Given the description of an element on the screen output the (x, y) to click on. 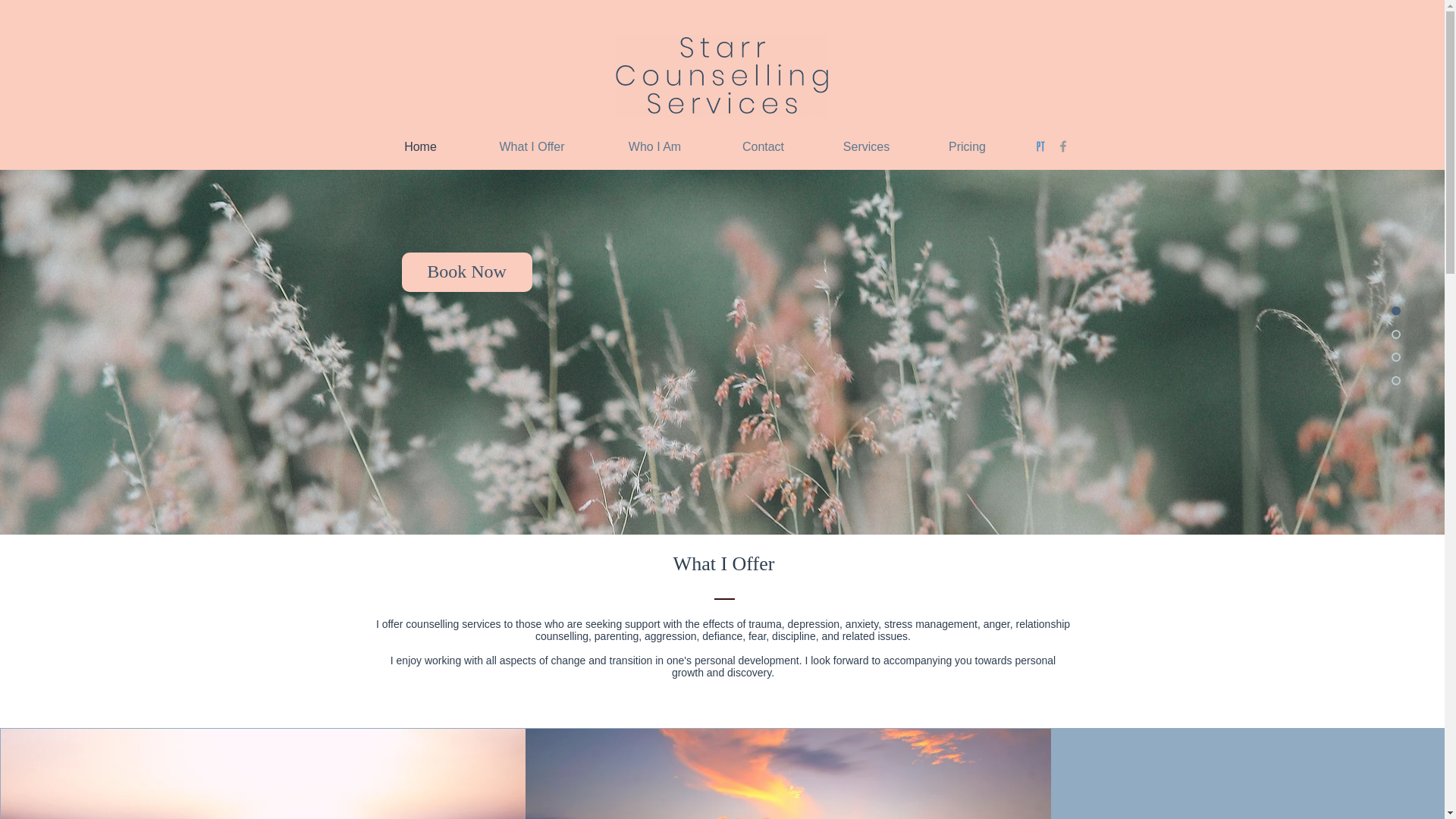
Services (865, 145)
Book Now (466, 271)
Contact (763, 145)
Who I Am (654, 145)
What I Offer (531, 145)
Home (420, 145)
Pricing (967, 145)
